Given the description of an element on the screen output the (x, y) to click on. 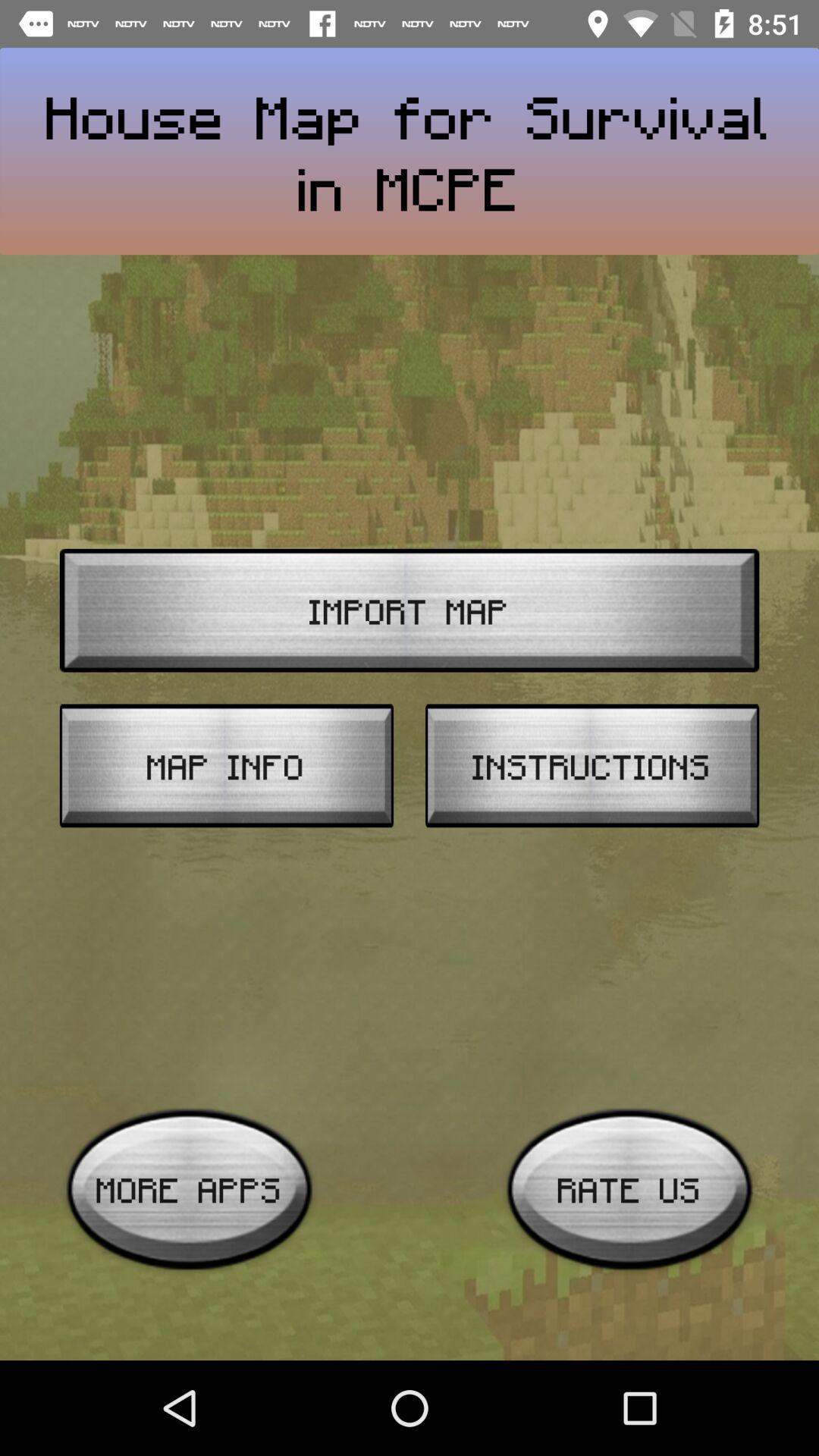
turn off the icon below the import map icon (592, 765)
